Given the description of an element on the screen output the (x, y) to click on. 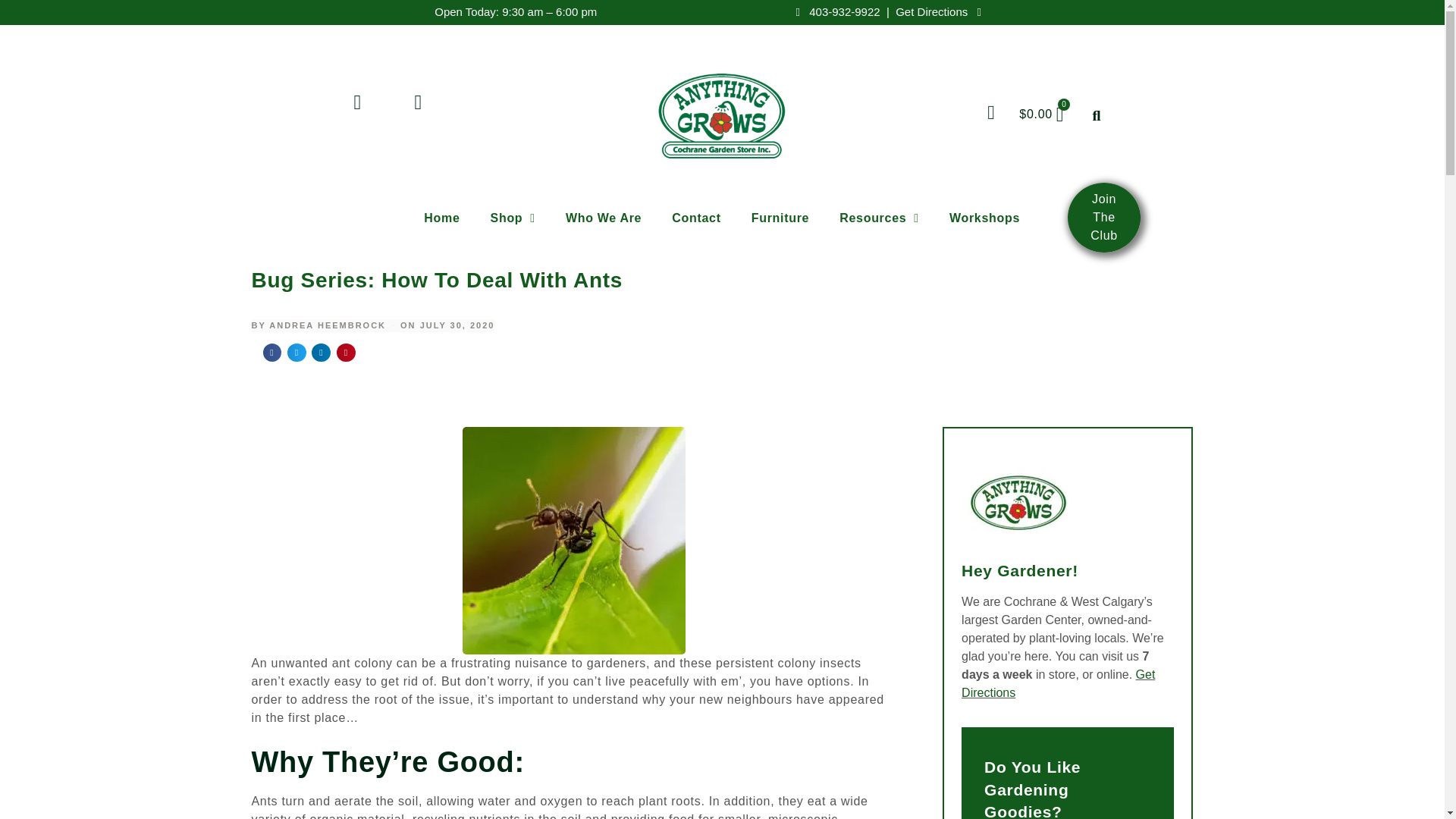
Get Directions (941, 11)
Home (441, 217)
Shop (513, 217)
403-932-9922 (835, 11)
